Given the description of an element on the screen output the (x, y) to click on. 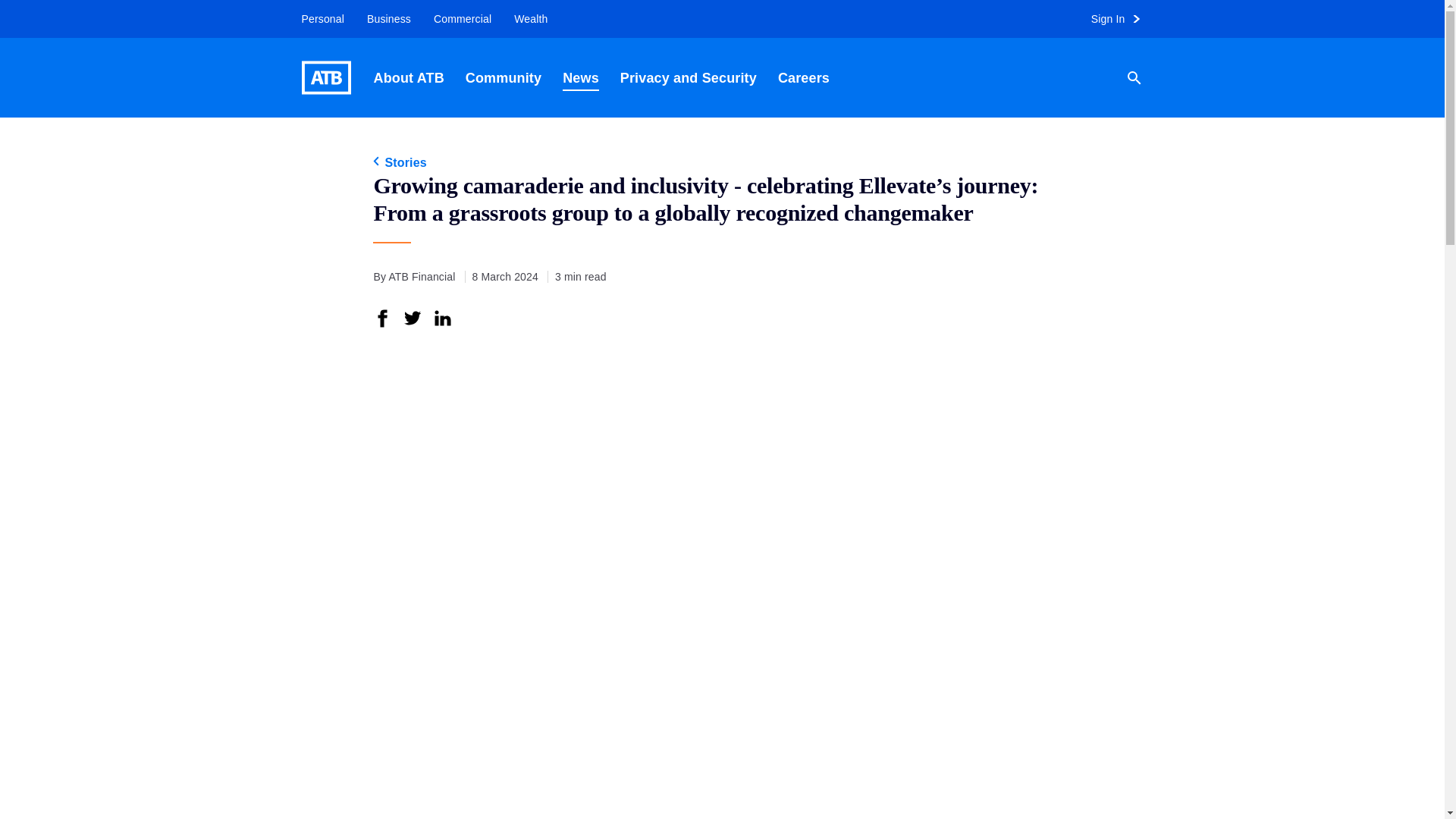
Community (502, 77)
Privacy and Security (688, 77)
Commercial (462, 19)
Sign In (1122, 19)
Business (388, 19)
Personal (317, 19)
Wealth (530, 19)
Careers (803, 77)
About ATB (408, 77)
News (580, 77)
